Given the description of an element on the screen output the (x, y) to click on. 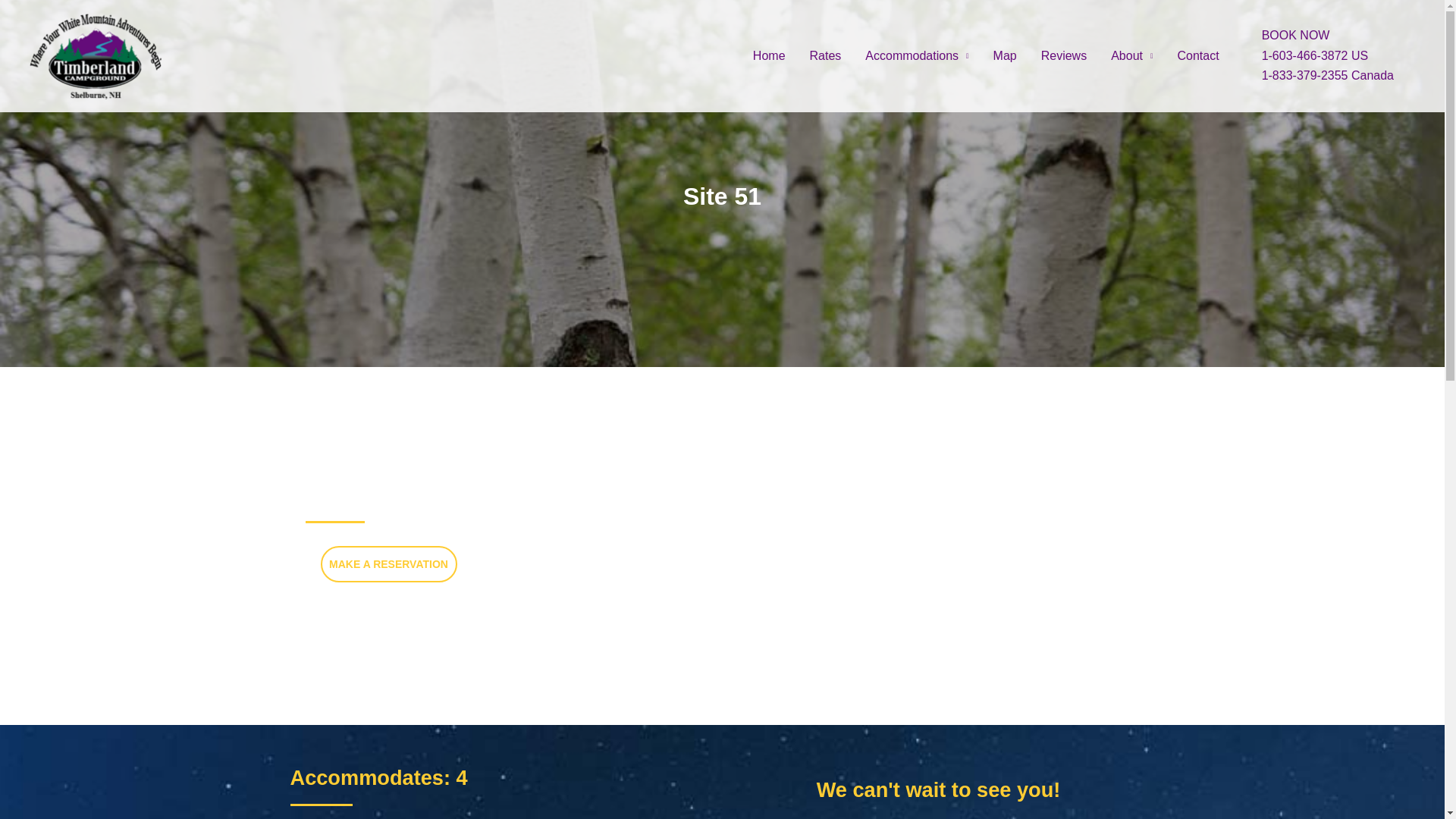
1-603-466-3872 US (1327, 55)
Reviews (1064, 55)
1-833-379-2355 Canada (1327, 75)
Contact (1197, 55)
Accommodations (916, 55)
Click Here (388, 564)
MAKE A RESERVATION (388, 564)
BOOK NOW (1327, 35)
About (1131, 55)
